Given the description of an element on the screen output the (x, y) to click on. 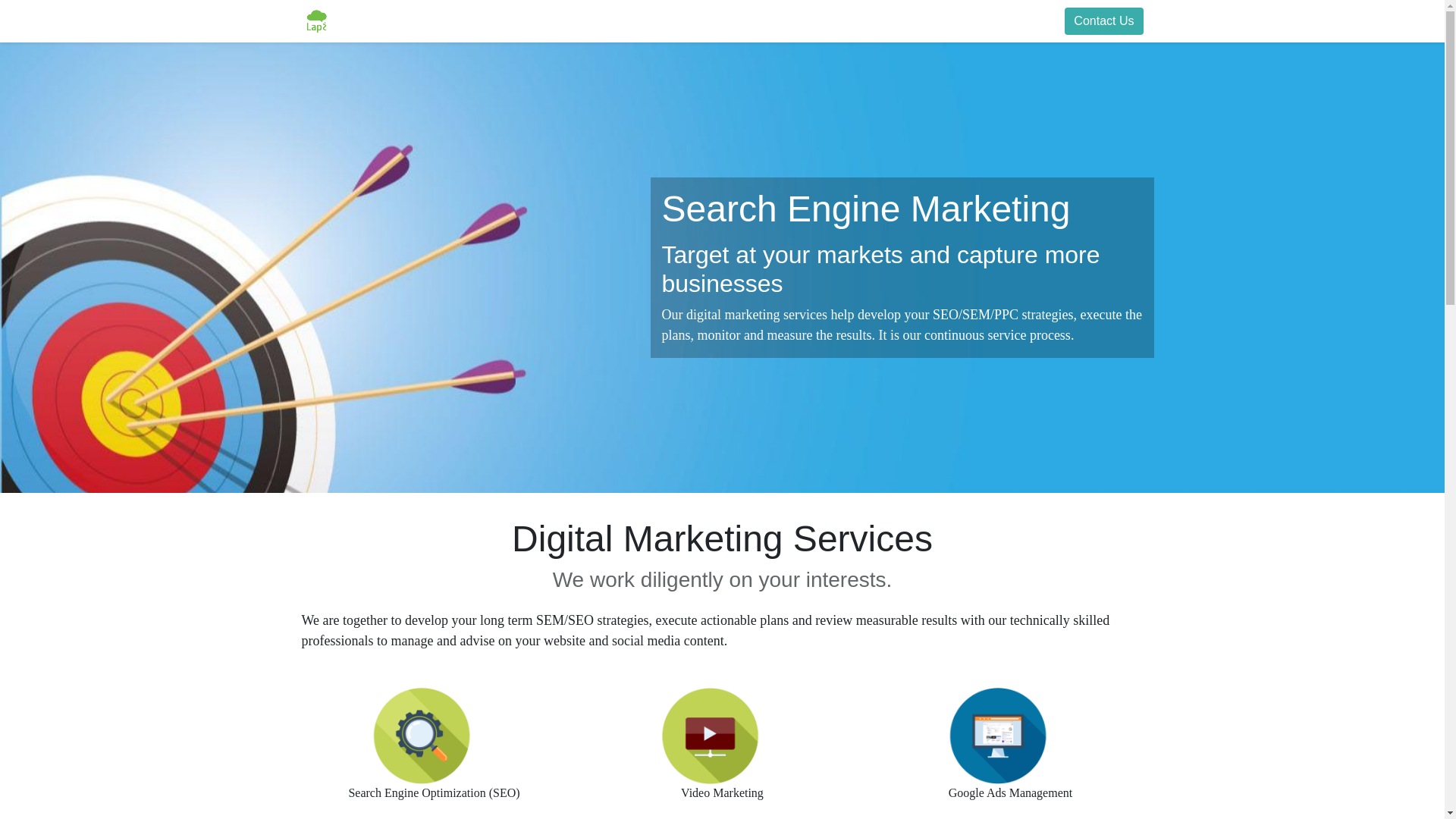
Laps Solutions (316, 20)
Contact Us (1103, 21)
